Given the description of an element on the screen output the (x, y) to click on. 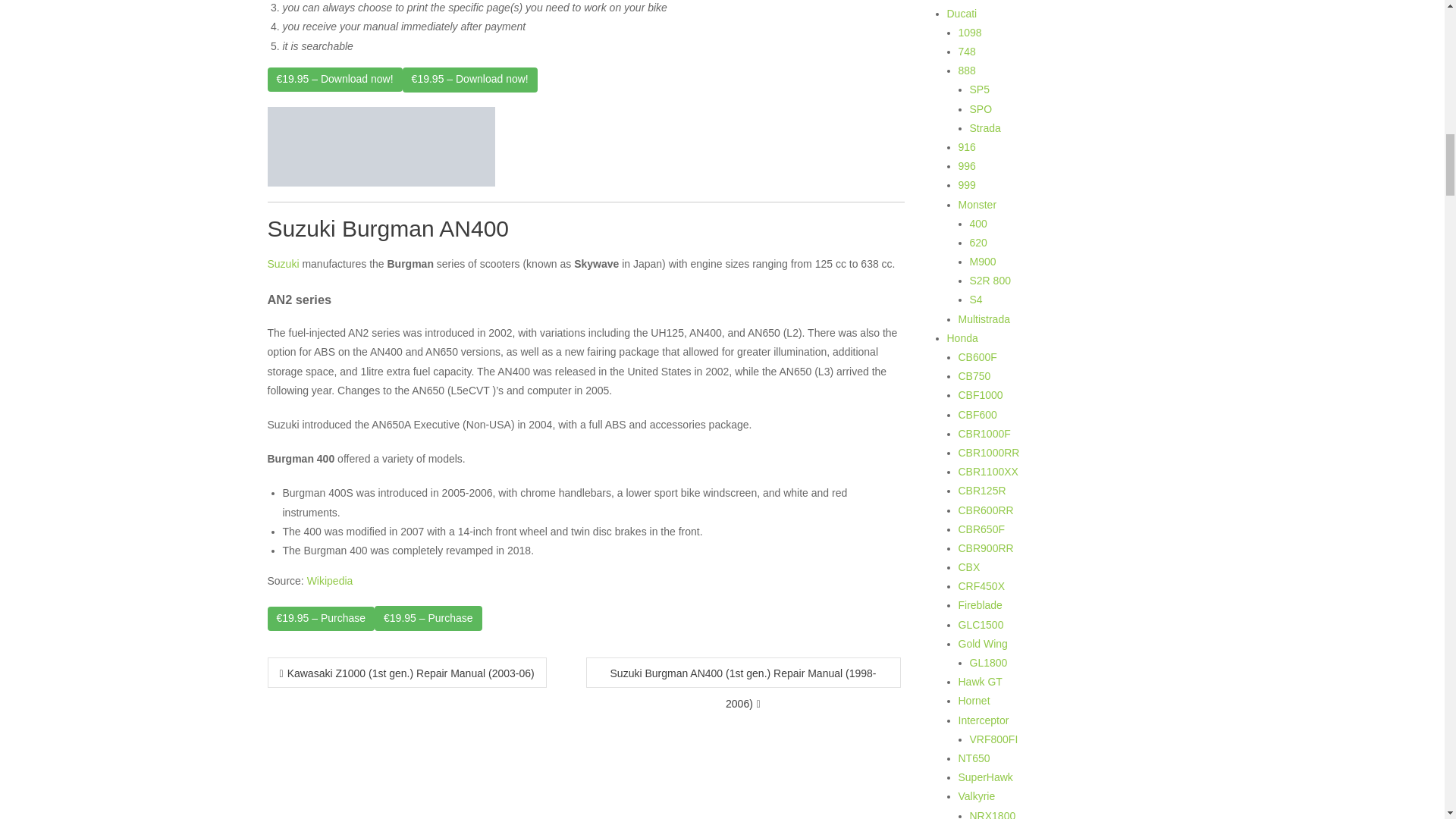
Suzuki (282, 263)
Wikipedia (330, 580)
Suzuki (282, 263)
